Given the description of an element on the screen output the (x, y) to click on. 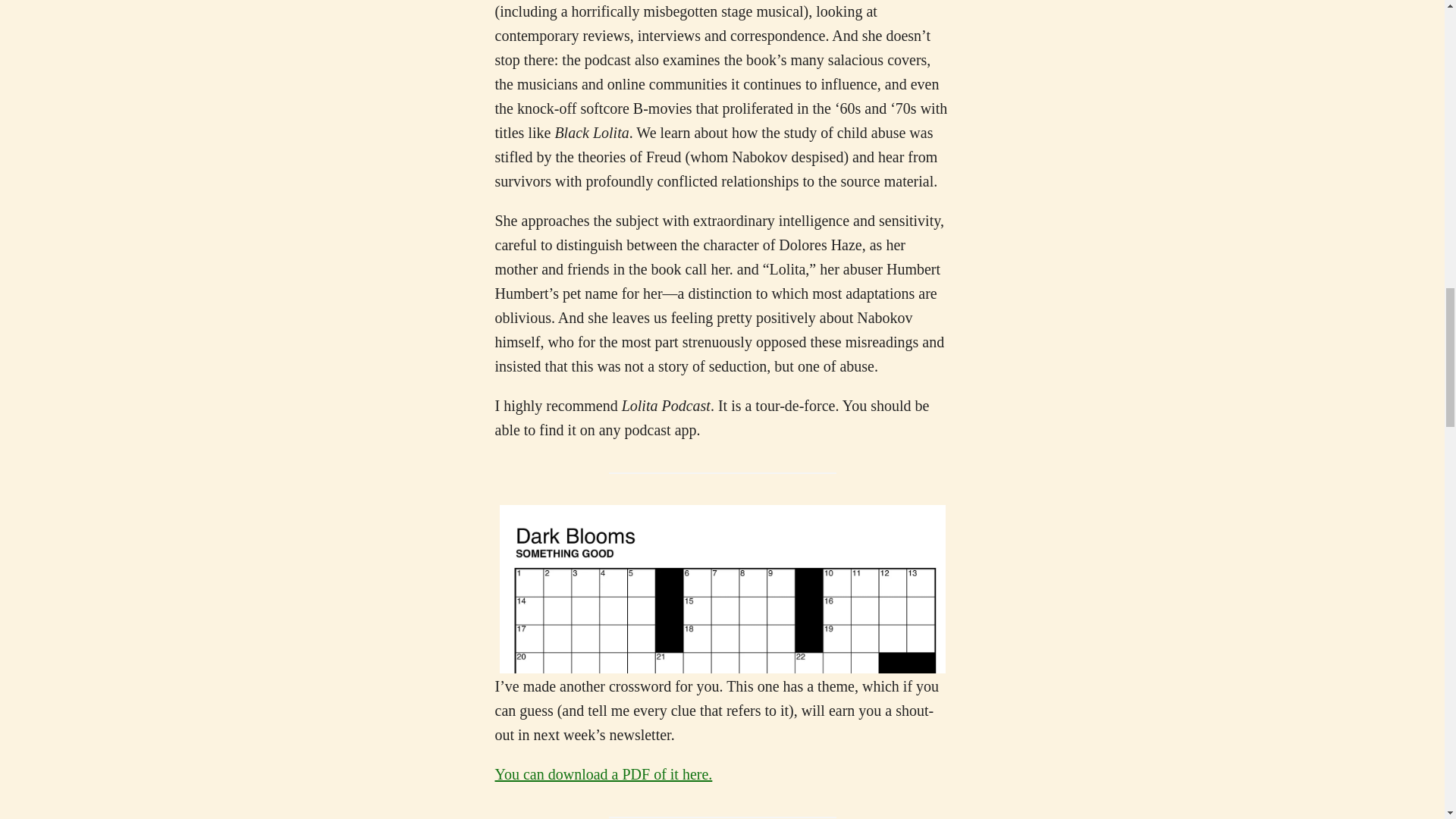
You can download a PDF of it here. (603, 773)
